Given the description of an element on the screen output the (x, y) to click on. 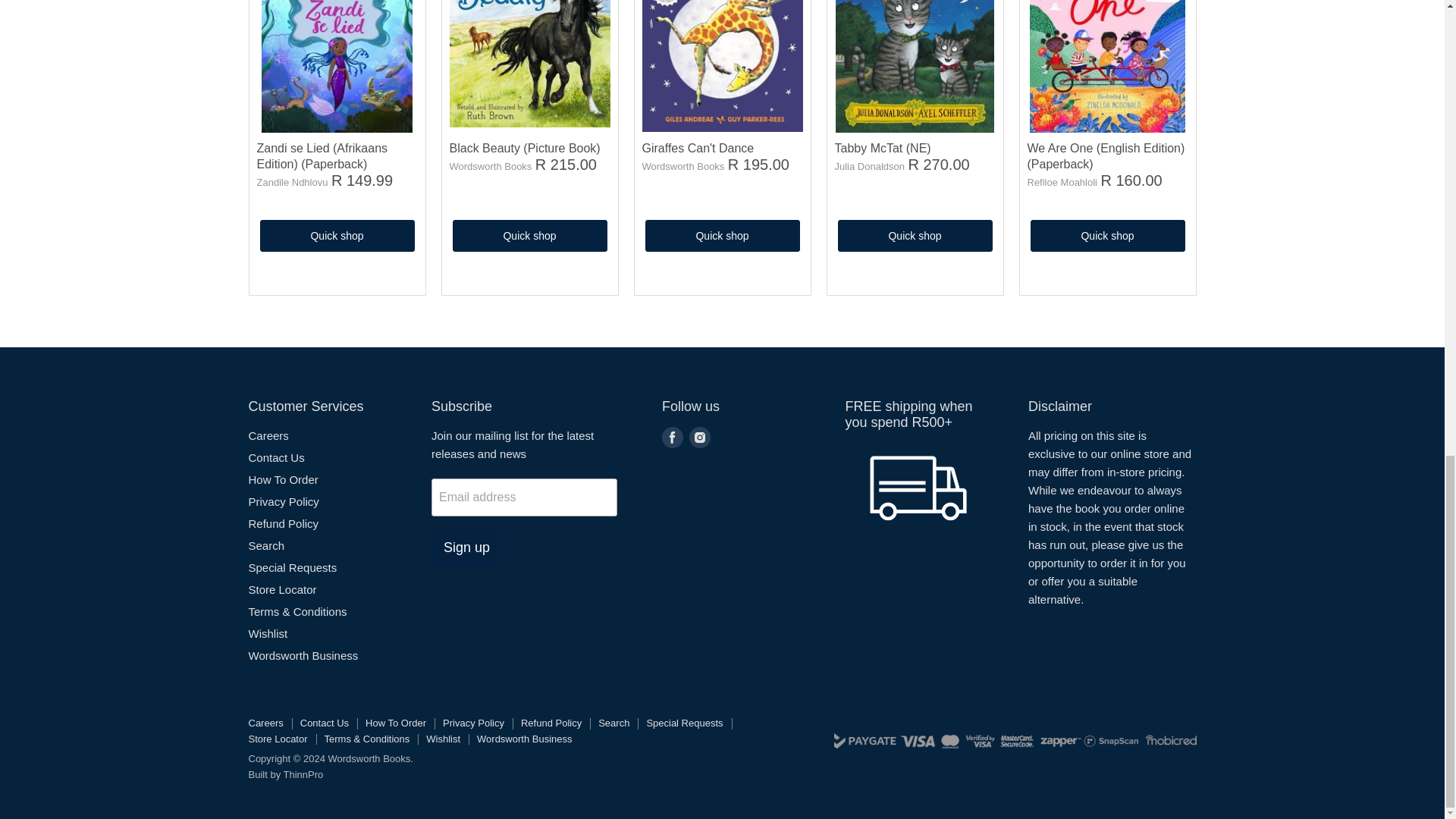
Instagram (699, 436)
Julia Donaldson (869, 165)
Wordsworth Books (682, 165)
Wordsworth Books (489, 165)
Refiloe Moahloli (1061, 182)
Zandile Ndhlovu (291, 182)
Facebook (672, 436)
